Given the description of an element on the screen output the (x, y) to click on. 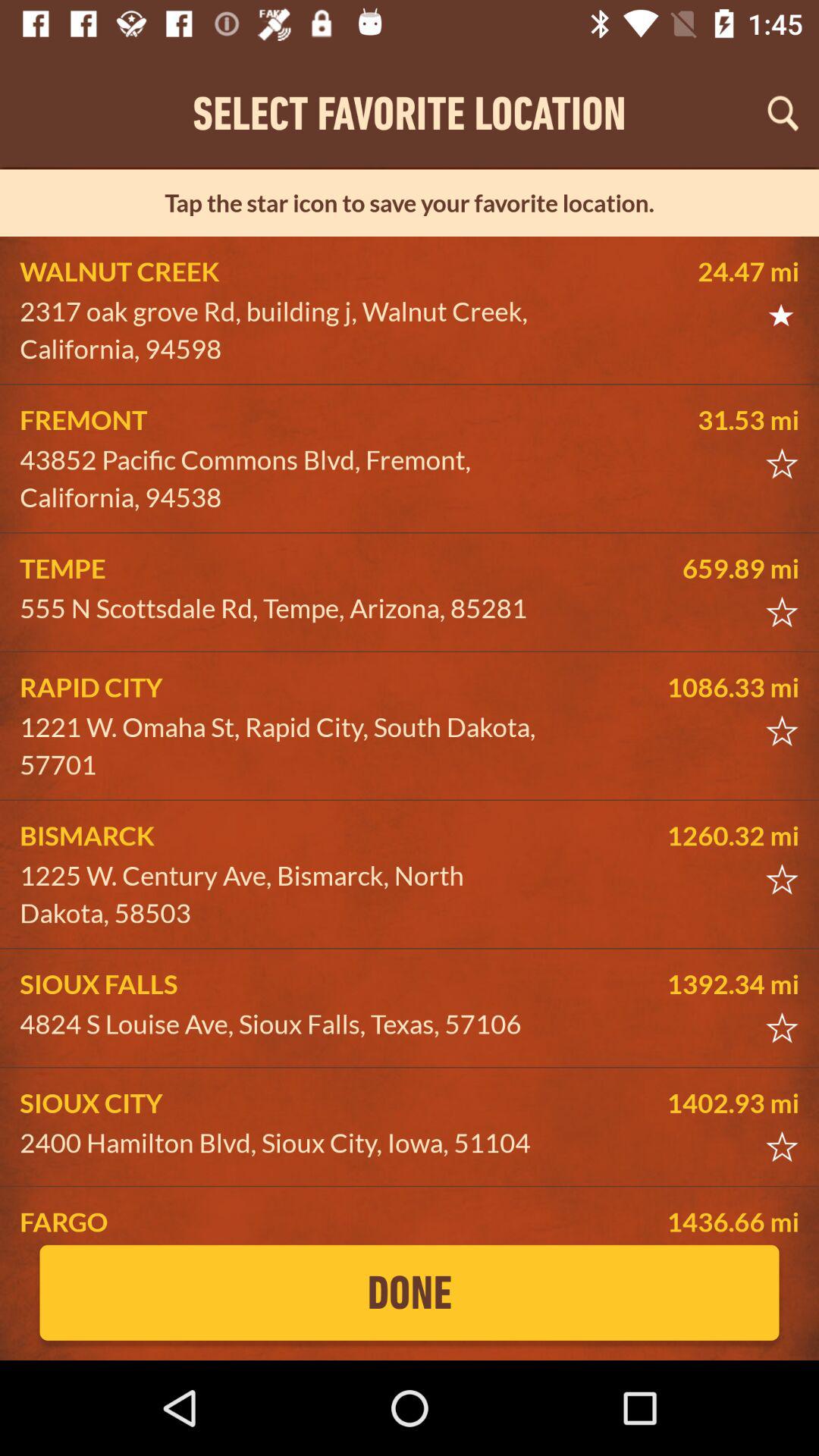
turn off icon above tap the star icon (783, 112)
